Given the description of an element on the screen output the (x, y) to click on. 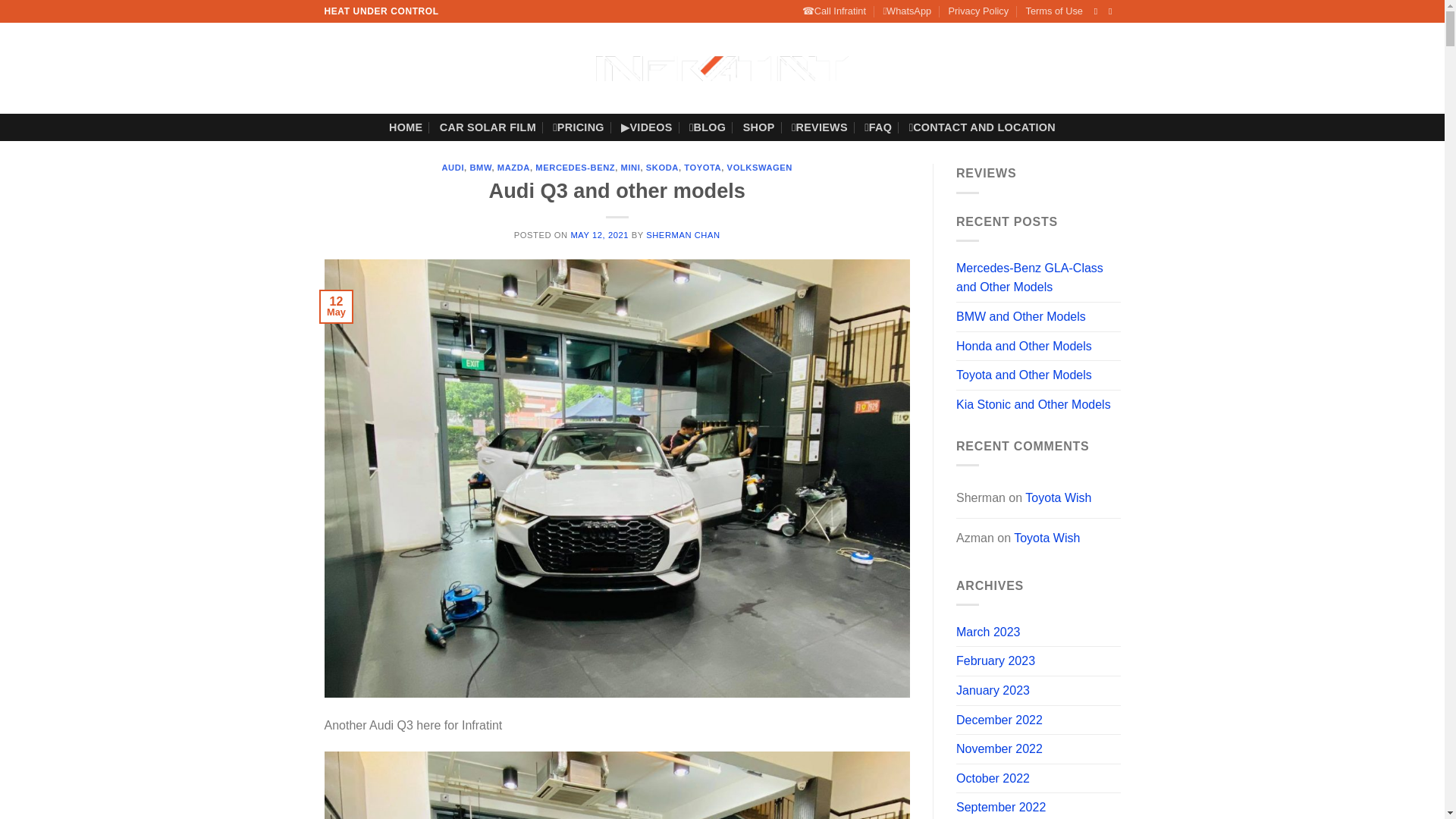
Terms of Use (1054, 11)
CAR SOLAR FILM (487, 126)
Privacy Policy (978, 11)
SKODA (662, 166)
MAZDA (513, 166)
AUDI (452, 166)
MINI (630, 166)
SHOP (758, 126)
MAY 12, 2021 (599, 234)
MERCEDES-BENZ (574, 166)
